Given the description of an element on the screen output the (x, y) to click on. 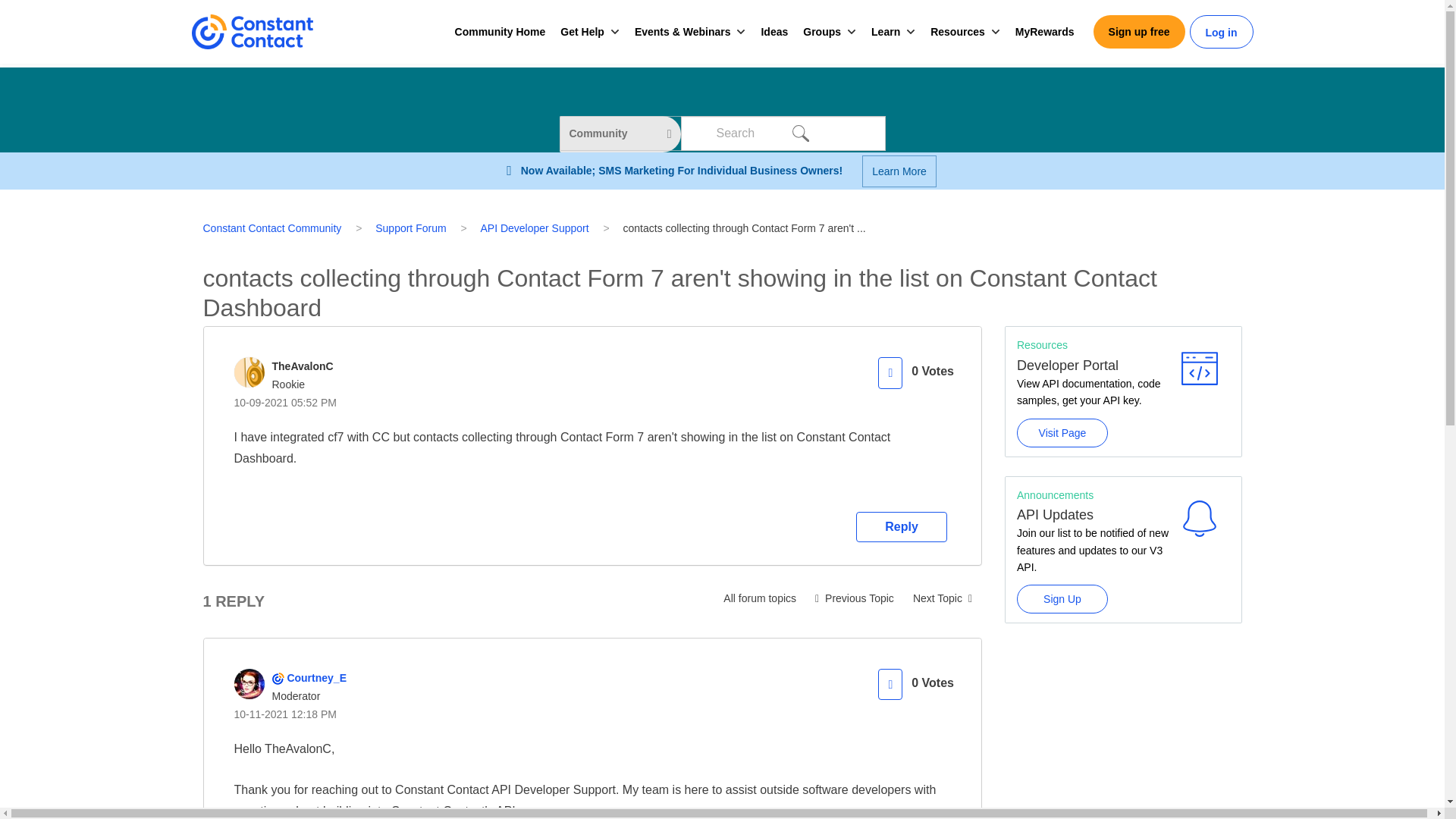
Get Help (582, 31)
Log in (1221, 32)
Learn (884, 31)
Resources (957, 31)
Search (799, 133)
Ideas (773, 31)
Sign up free (1139, 31)
Community Home (500, 31)
Log in (1221, 32)
MyRewards (1044, 31)
Sign up free (1139, 31)
Groups (822, 31)
Search (799, 133)
